Given the description of an element on the screen output the (x, y) to click on. 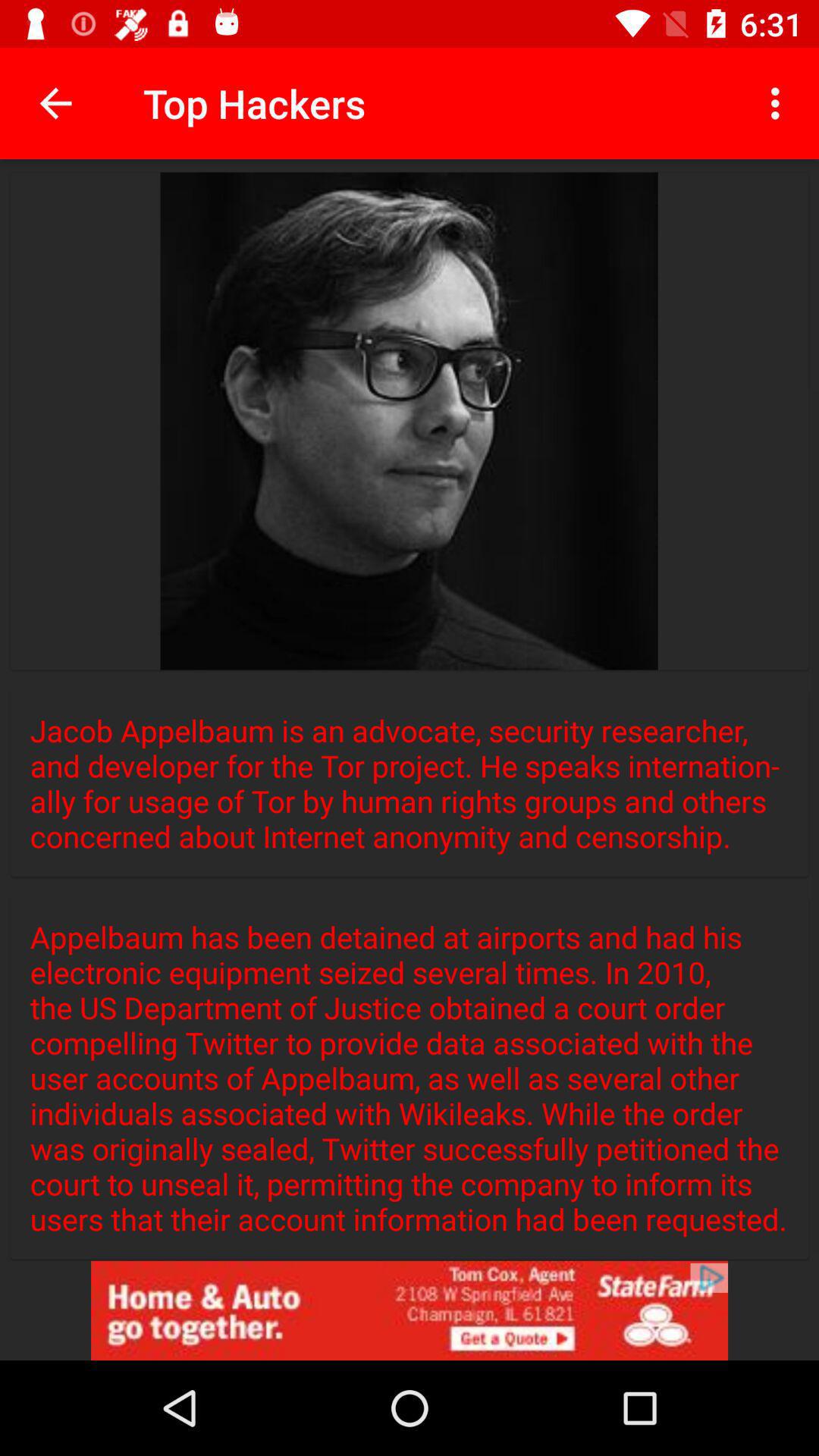
statefarm advertisement (409, 1310)
